Given the description of an element on the screen output the (x, y) to click on. 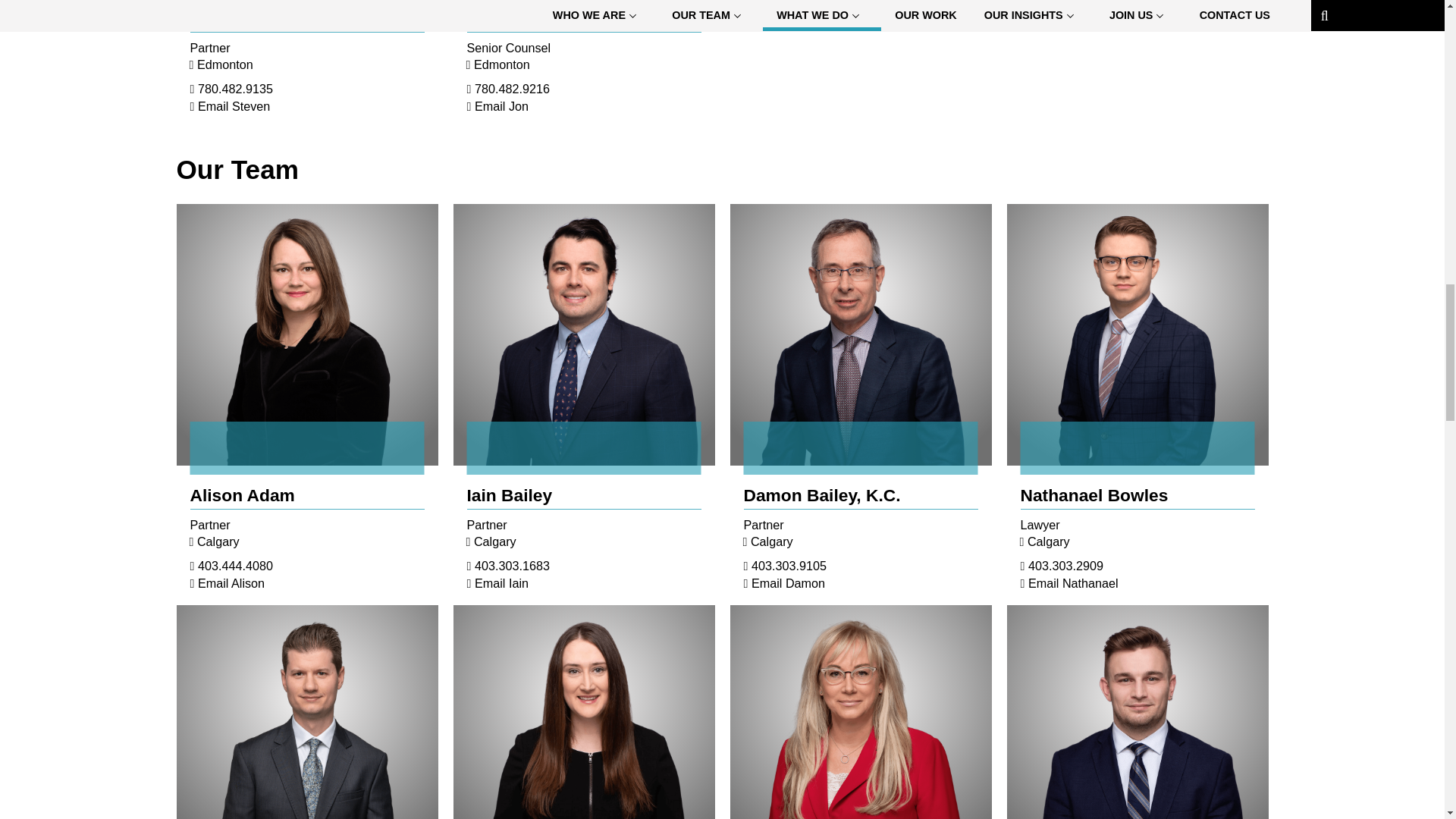
Email Jon (501, 106)
Email Steven (233, 106)
Alison Adam (241, 495)
Call now (235, 565)
Call now (512, 88)
Steven Dollansky (261, 17)
Edmonton (501, 64)
Call now (235, 88)
Jon Rossall (537, 17)
Calgary (218, 540)
Edmonton (224, 64)
